Given the description of an element on the screen output the (x, y) to click on. 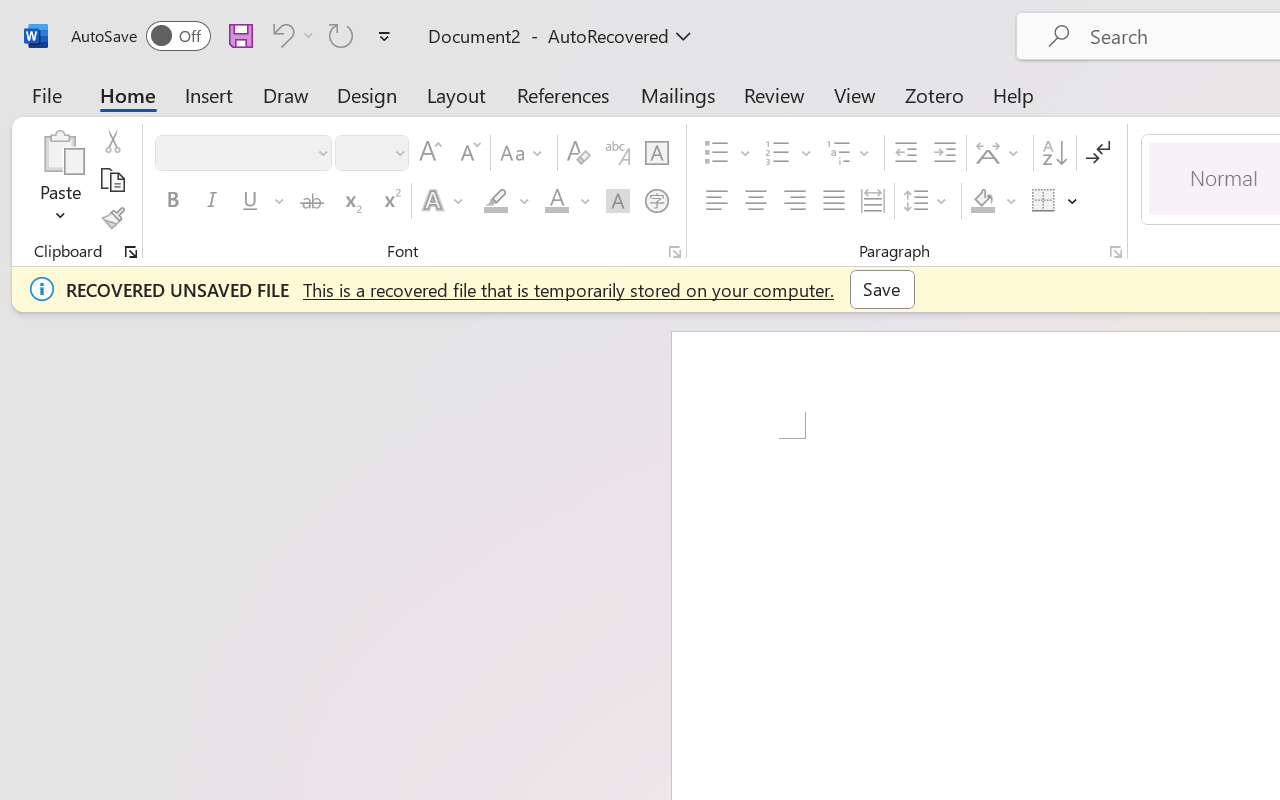
Font... (675, 252)
Can't Undo (290, 35)
Superscript (390, 201)
Enclose Characters... (656, 201)
Line and Paragraph Spacing (927, 201)
Bold (172, 201)
Subscript (350, 201)
Clear Formatting (578, 153)
